Given the description of an element on the screen output the (x, y) to click on. 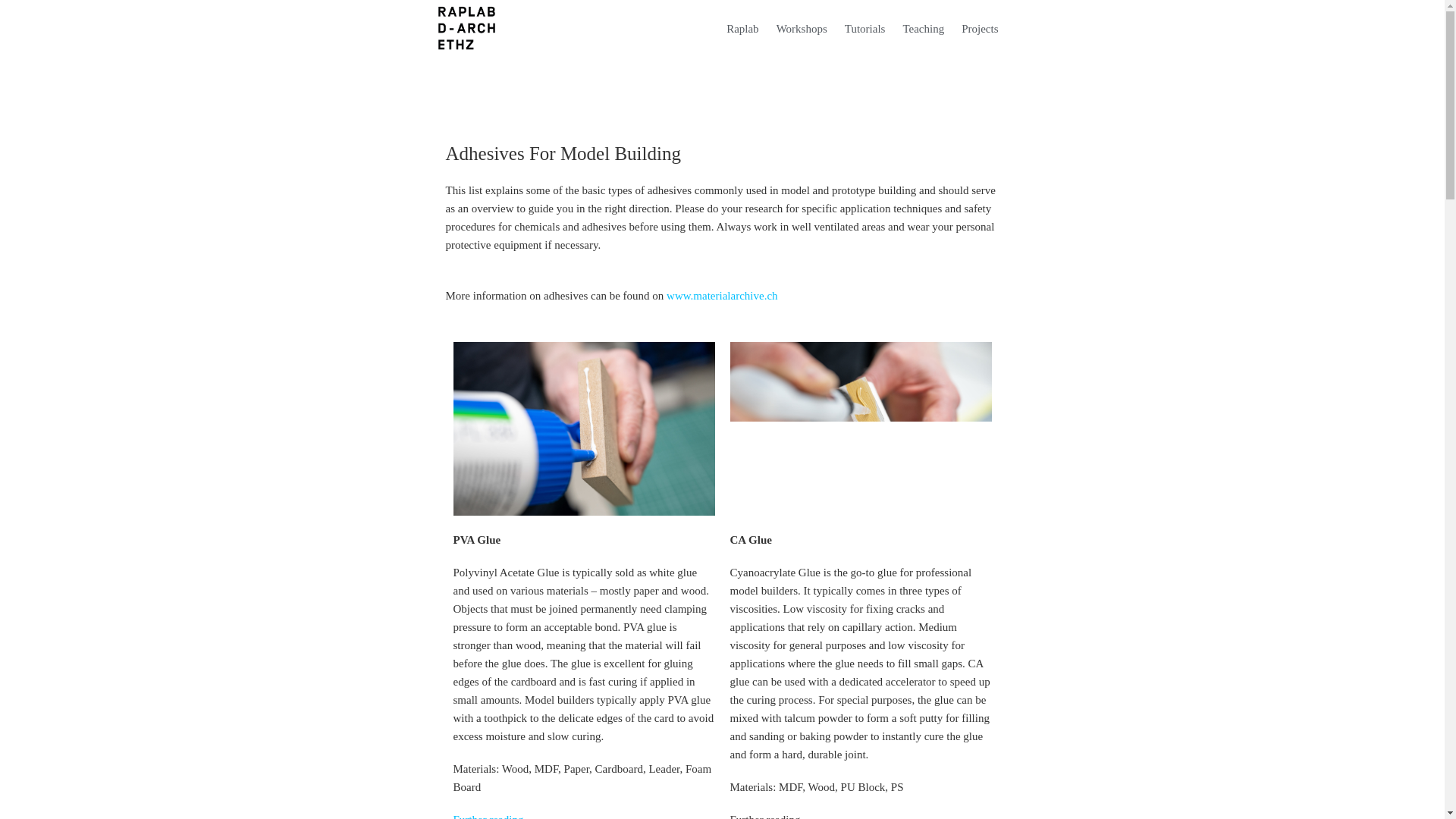
Tutorials (864, 28)
Projects (979, 28)
Workshops (801, 28)
Teaching (922, 28)
Raplab (742, 28)
